Given the description of an element on the screen output the (x, y) to click on. 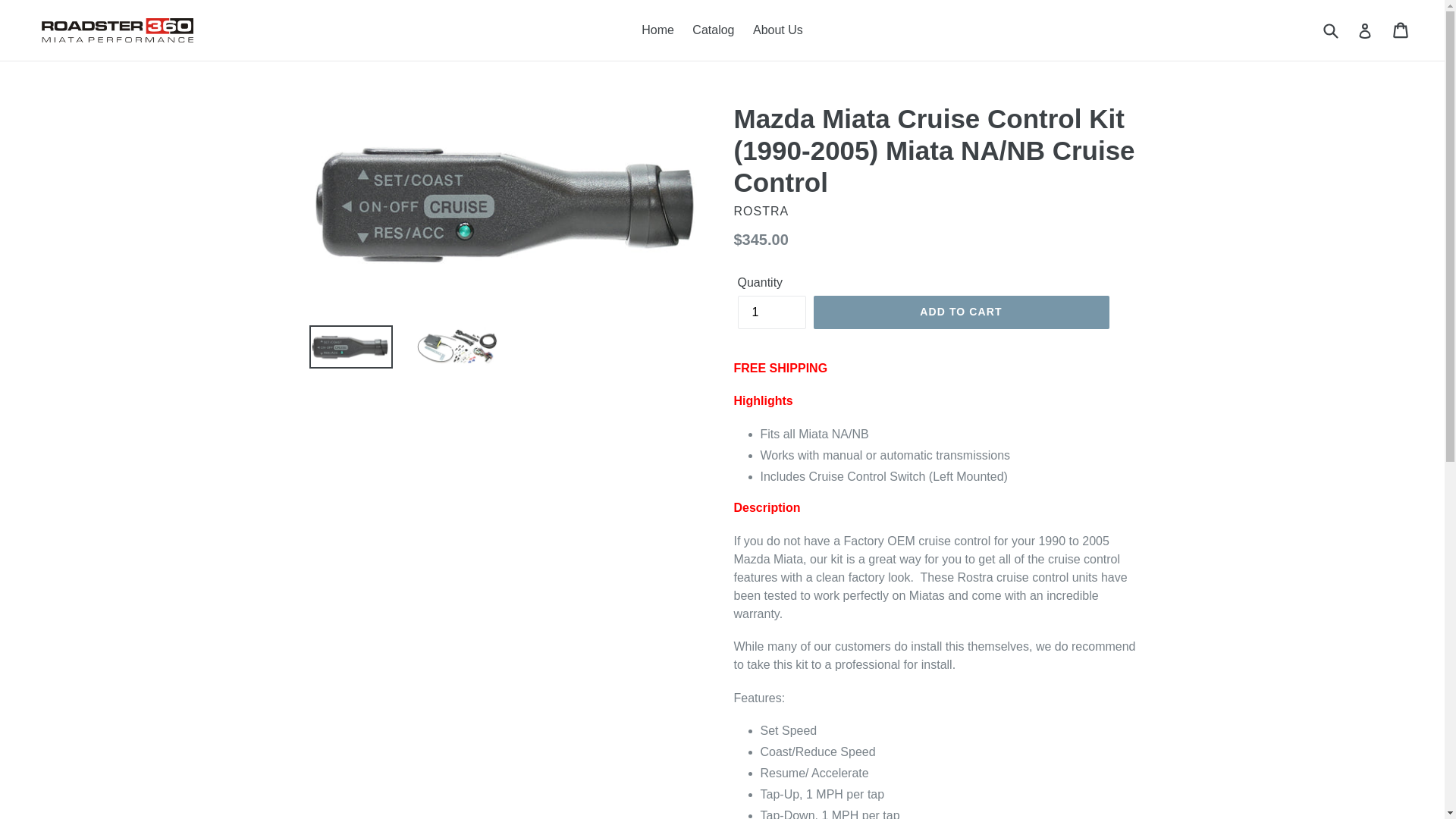
Rostra (761, 210)
About Us (777, 29)
Catalog (712, 29)
Home (657, 29)
1 (770, 312)
ROSTRA (761, 210)
ADD TO CART (960, 312)
